Given the description of an element on the screen output the (x, y) to click on. 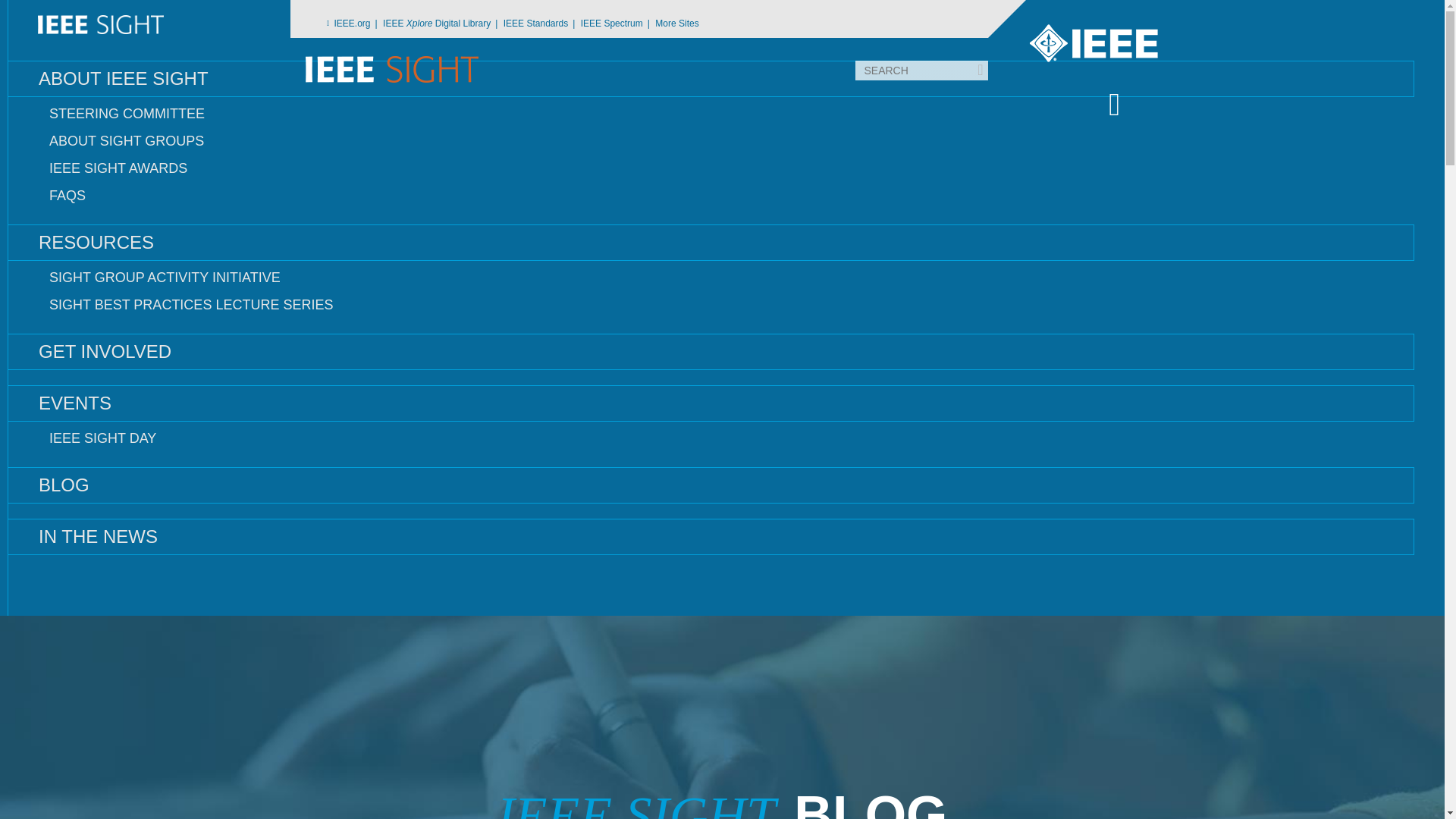
IEEE Spectrum (616, 25)
RESOURCES (710, 242)
BLOG (710, 484)
IEEE SIGHT DAY (710, 438)
HOME (710, 24)
SIGHT GROUP ACTIVITY INITIATIVE (710, 277)
GET INVOLVED (710, 351)
SIGHT BEST PRACTICES LECTURE SERIES (710, 304)
IEEE SIGHT AWARDS (710, 167)
STEERING COMMITTEE (710, 113)
